Given the description of an element on the screen output the (x, y) to click on. 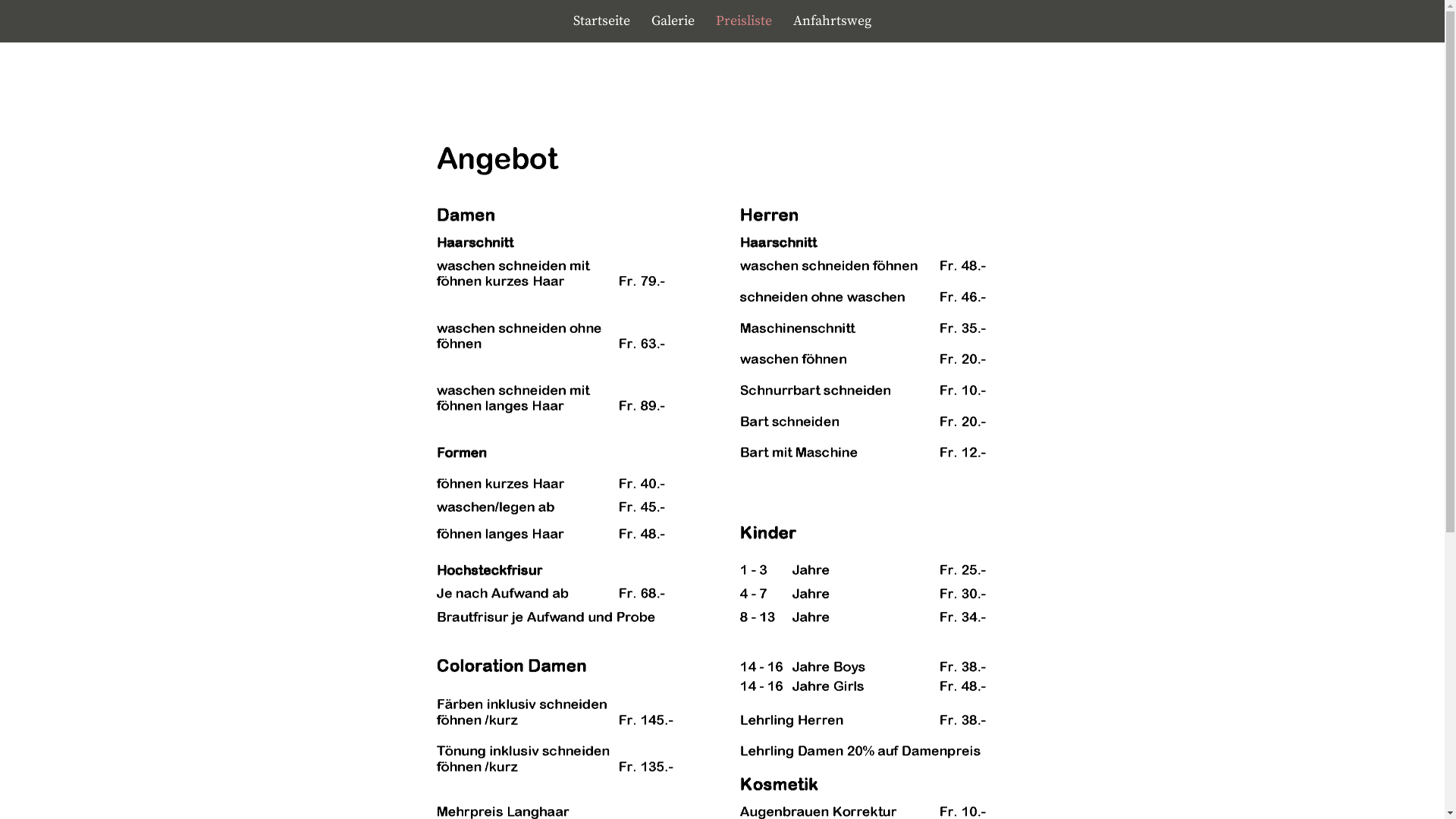
Preisliste Element type: text (743, 20)
Anfahrtsweg Element type: text (832, 20)
Startseite Element type: text (601, 20)
Galerie Element type: text (672, 20)
